Given the description of an element on the screen output the (x, y) to click on. 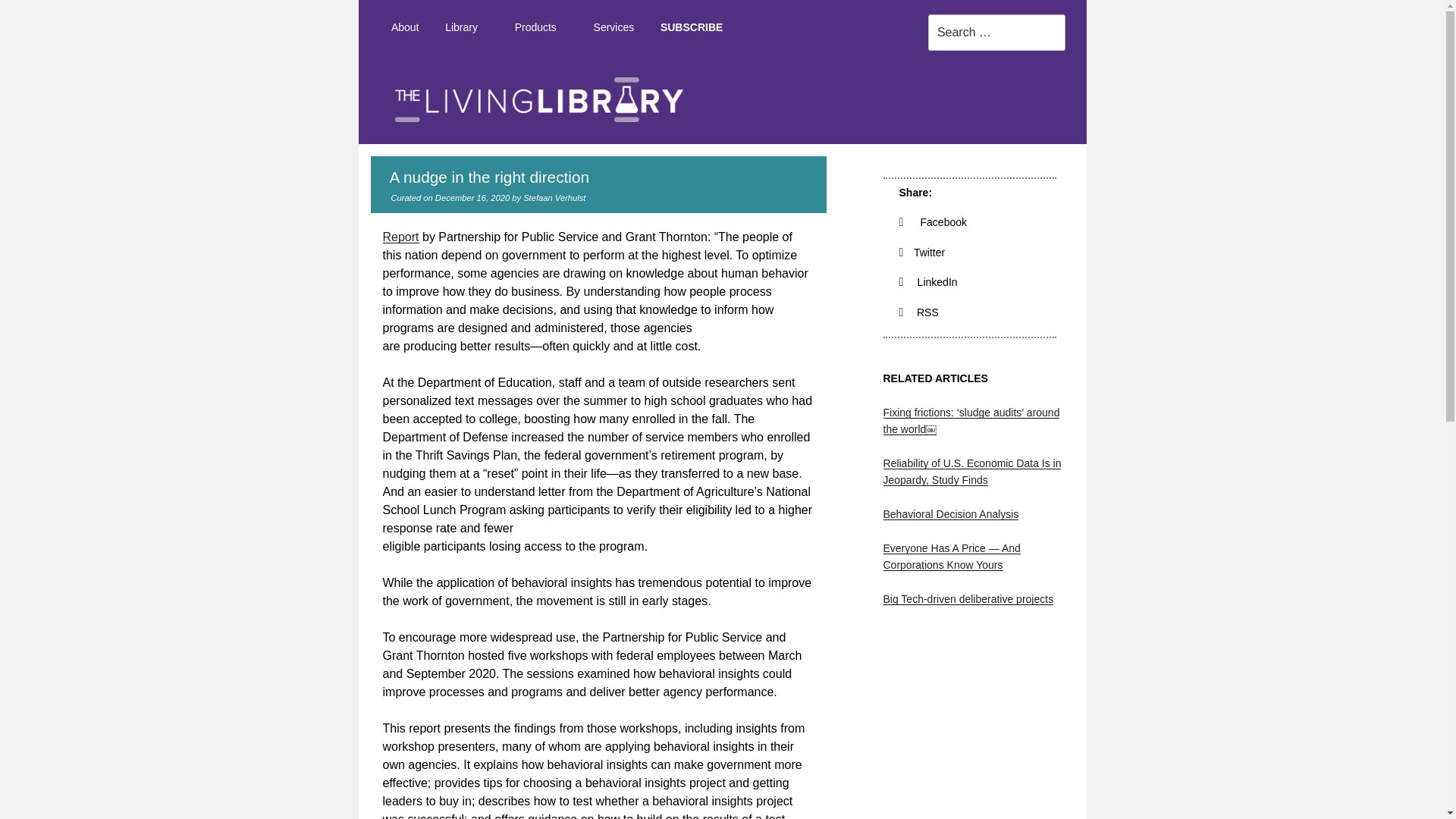
RSS (919, 312)
Stefaan Verhulst (553, 197)
SUBSCRIBE (692, 27)
LinkedIn (928, 282)
Report (400, 236)
Big Tech-driven deliberative projects (967, 598)
December 16, 2020 (472, 197)
About (403, 27)
Library (466, 27)
Twitter (921, 252)
Services (612, 27)
Behavioral Decision Analysis (949, 513)
  Facebook (933, 222)
Products (540, 27)
